Given the description of an element on the screen output the (x, y) to click on. 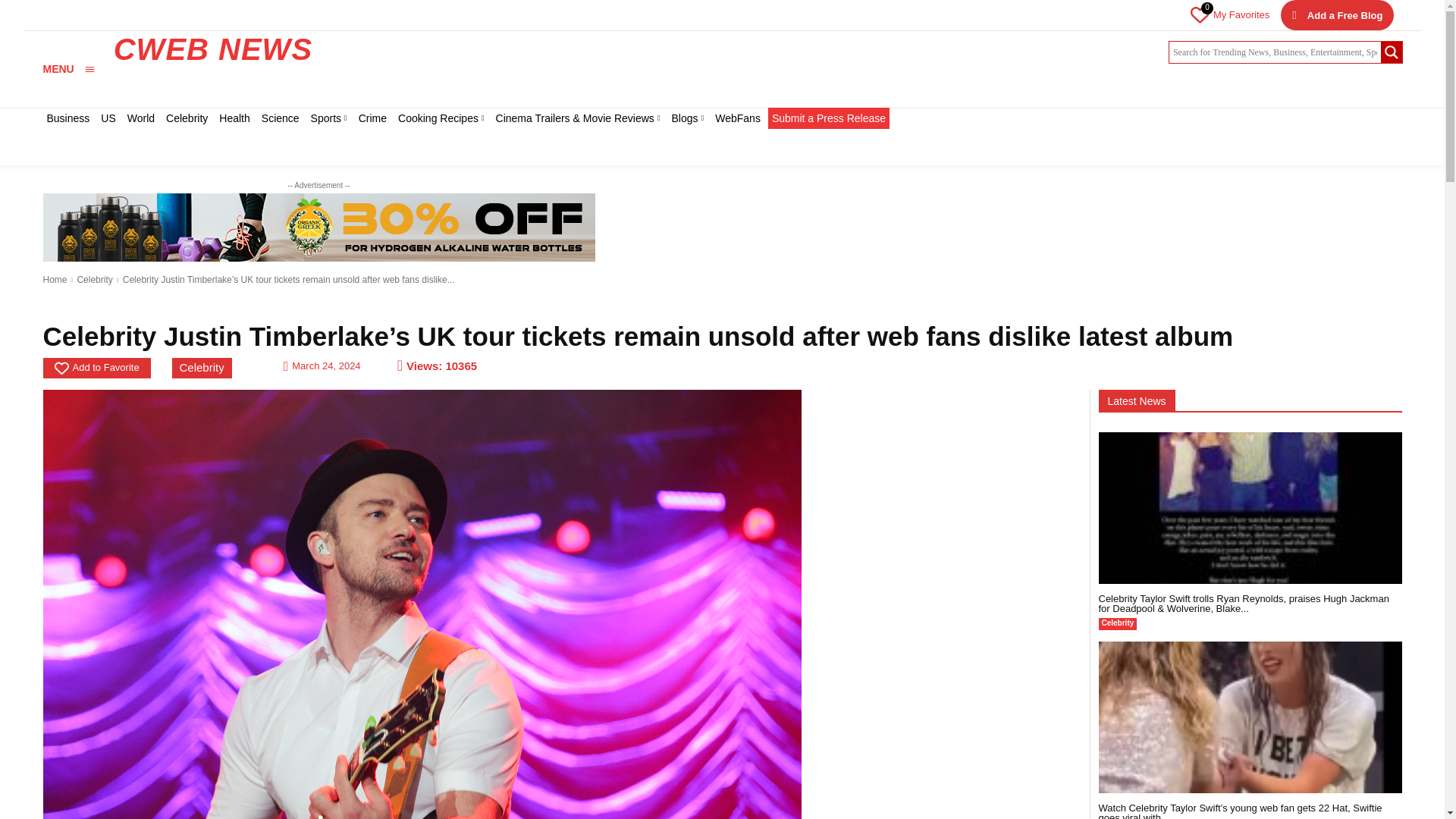
Subscribe (991, 175)
Menu (68, 68)
Subscribe (1063, 140)
Add a Free Blog (1337, 15)
